Given the description of an element on the screen output the (x, y) to click on. 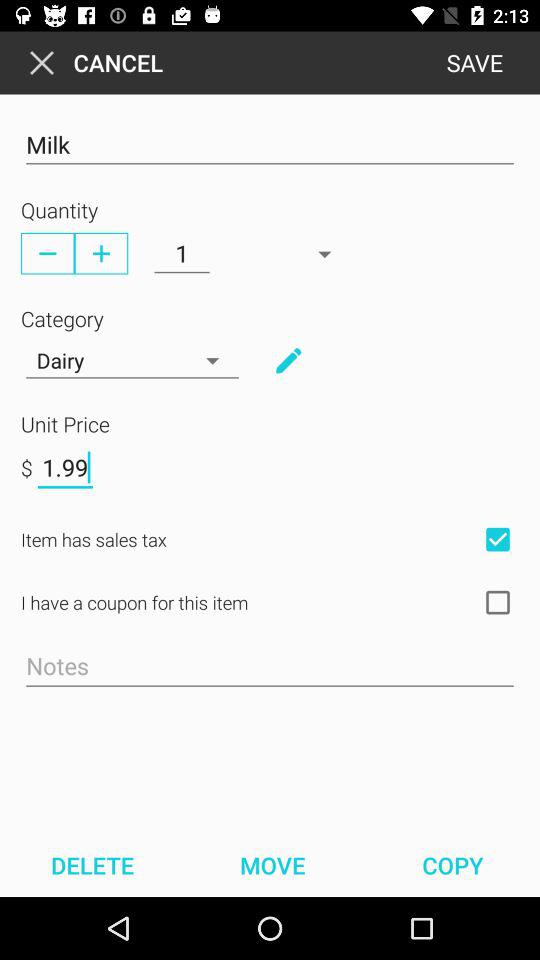
get drop down menu (288, 360)
